Given the description of an element on the screen output the (x, y) to click on. 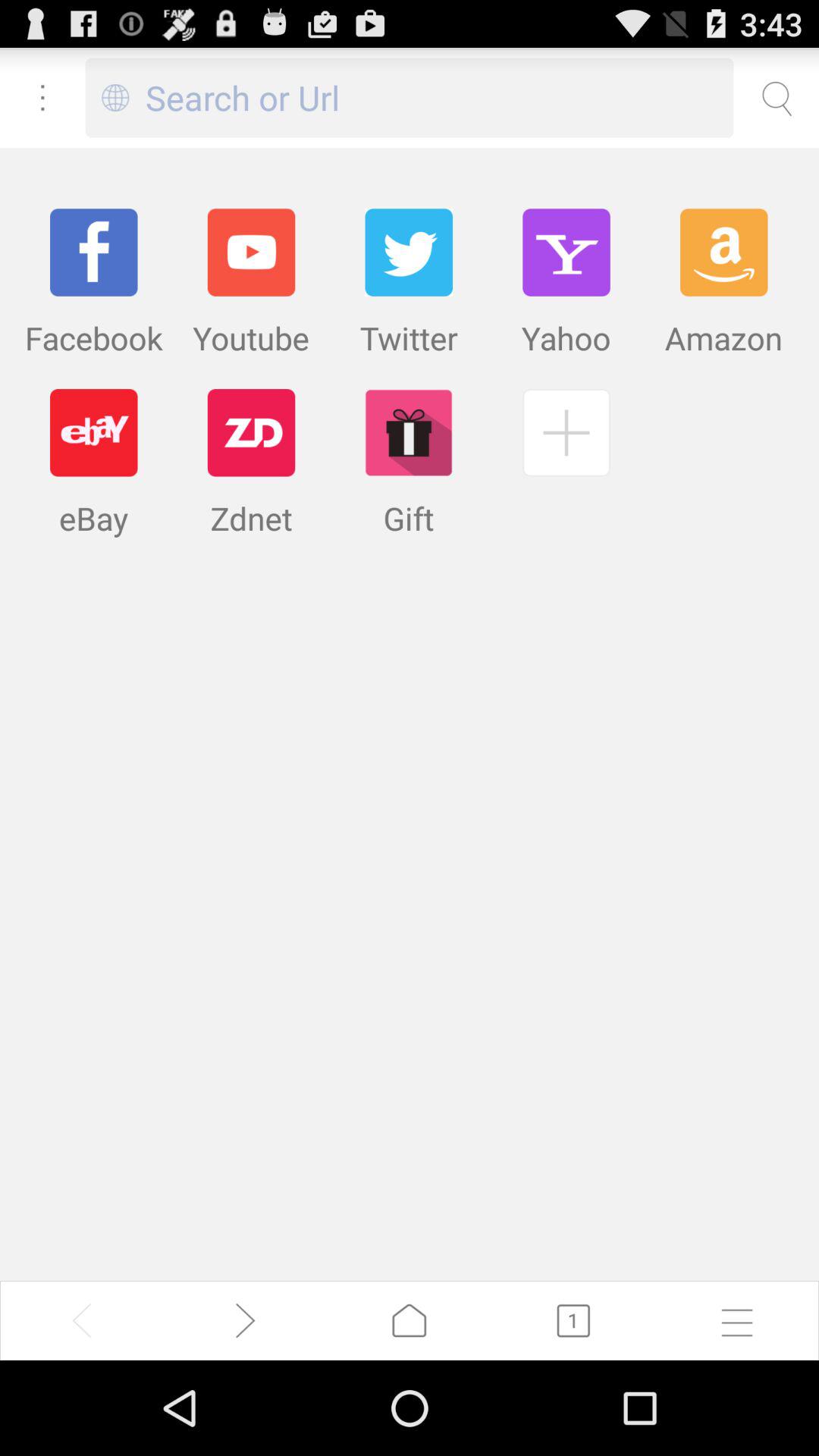
turn off the icon to the left of search or url icon (115, 97)
